Given the description of an element on the screen output the (x, y) to click on. 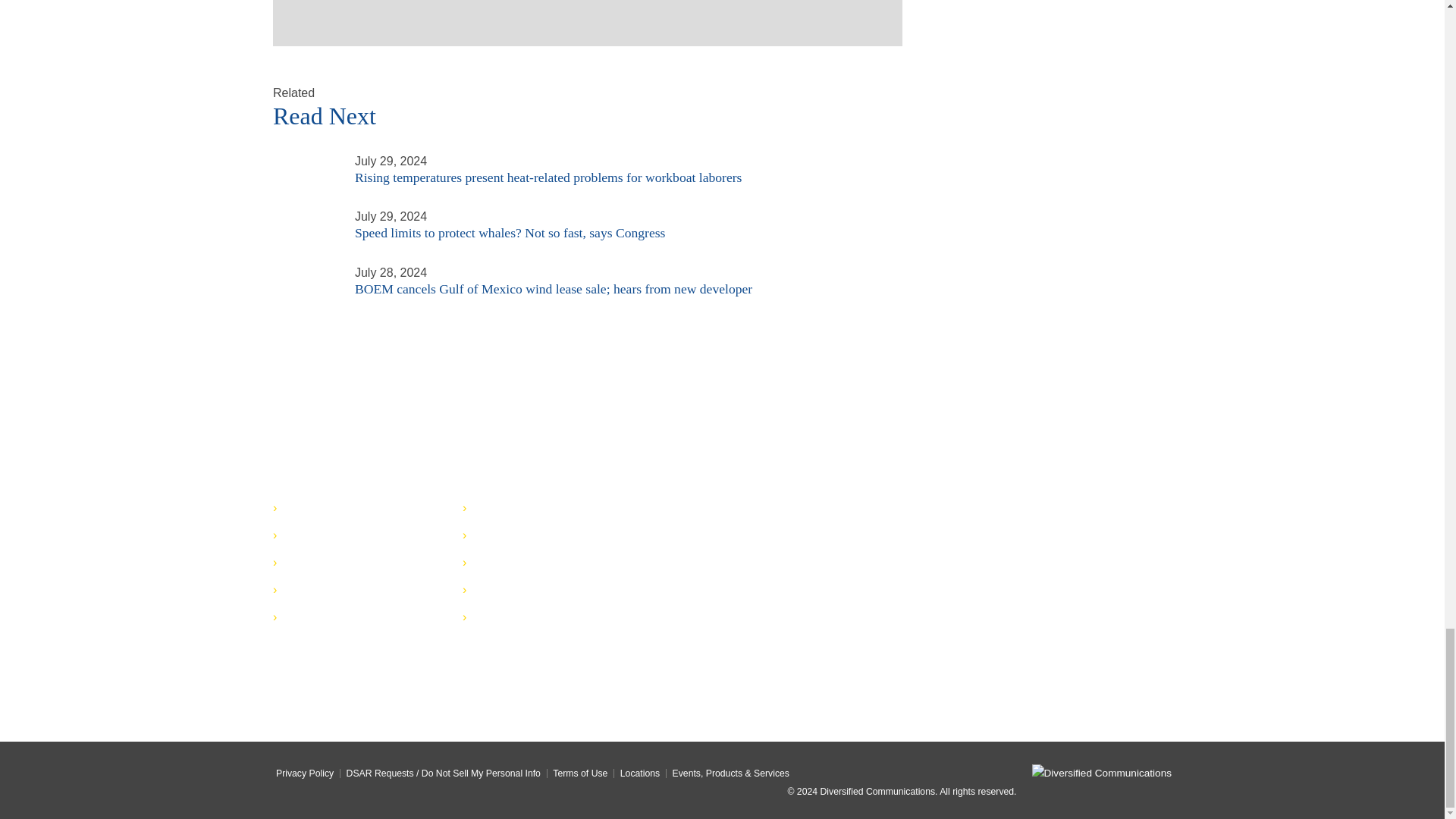
Speed limits to protect whales? Not so fast, says Congress (304, 215)
